Given the description of an element on the screen output the (x, y) to click on. 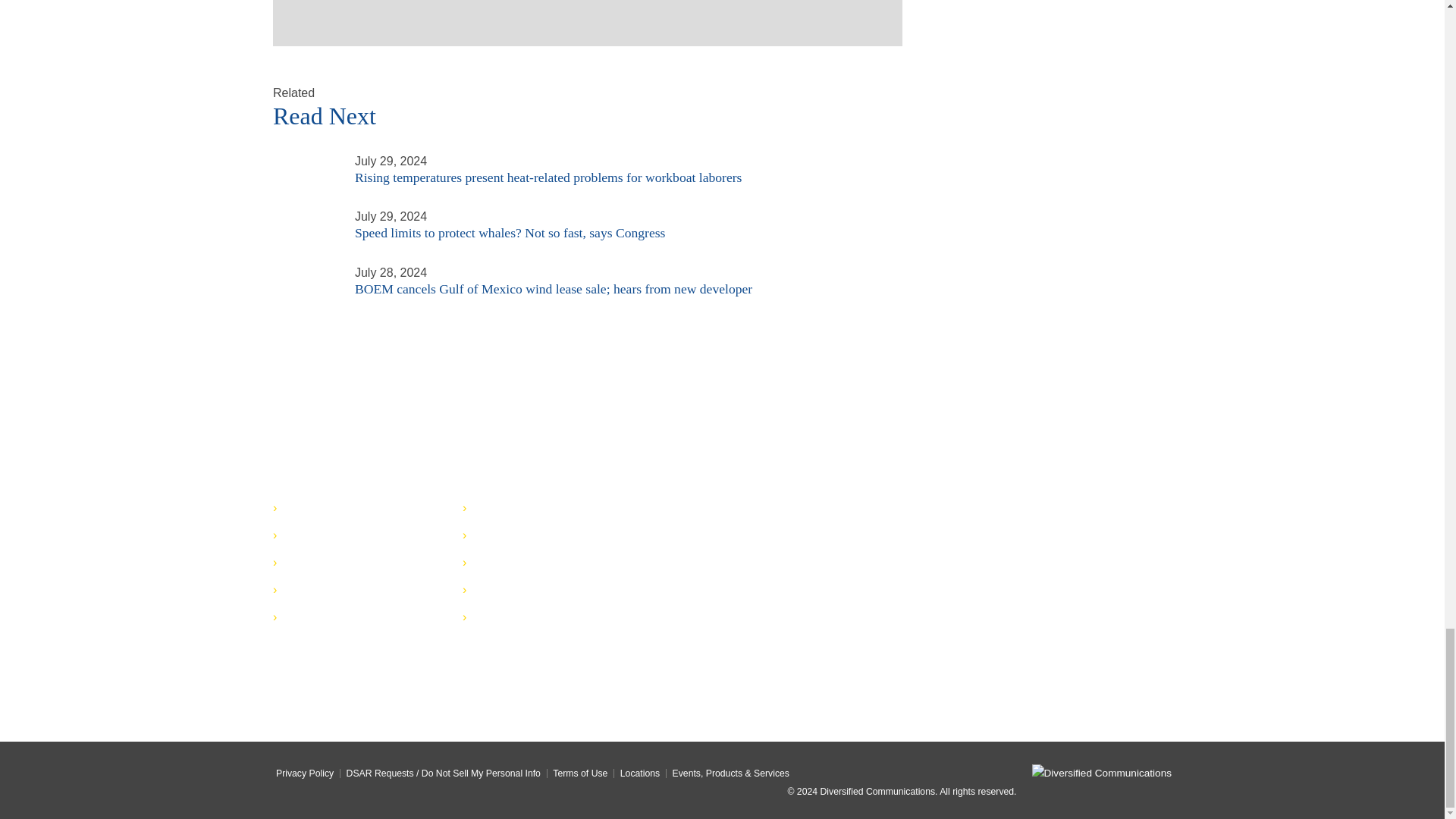
Speed limits to protect whales? Not so fast, says Congress (304, 215)
